Given the description of an element on the screen output the (x, y) to click on. 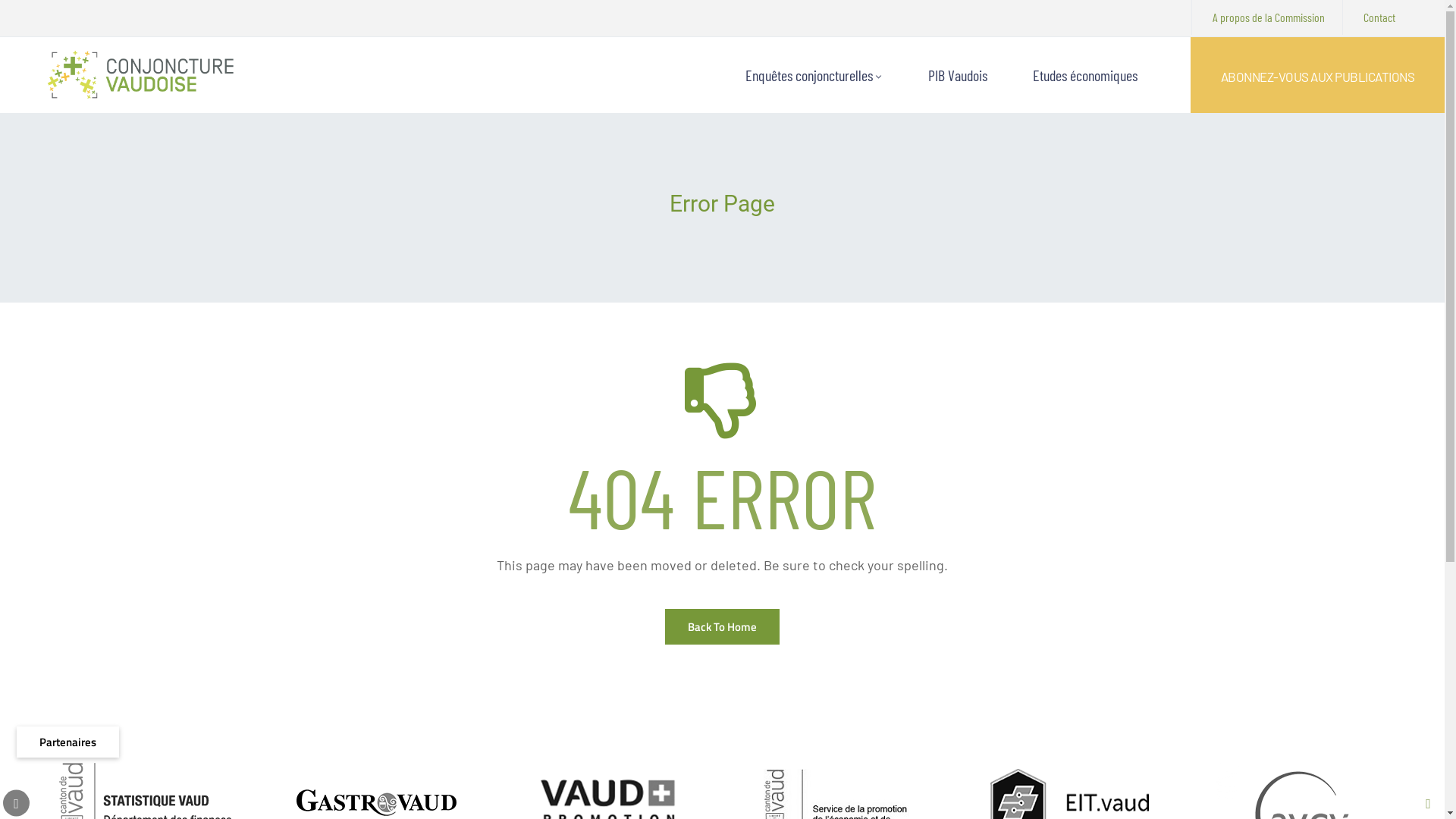
A propos de la Commission Element type: text (1268, 16)
Conjoncture Vaudoise Element type: hover (140, 74)
Back To Home Element type: text (722, 626)
Contact Element type: text (1379, 16)
ABONNEZ-VOUS AUX PUBLICATIONS Element type: text (1317, 76)
Partenaires Element type: text (67, 741)
PIB Vaudois Element type: text (949, 74)
